Given the description of an element on the screen output the (x, y) to click on. 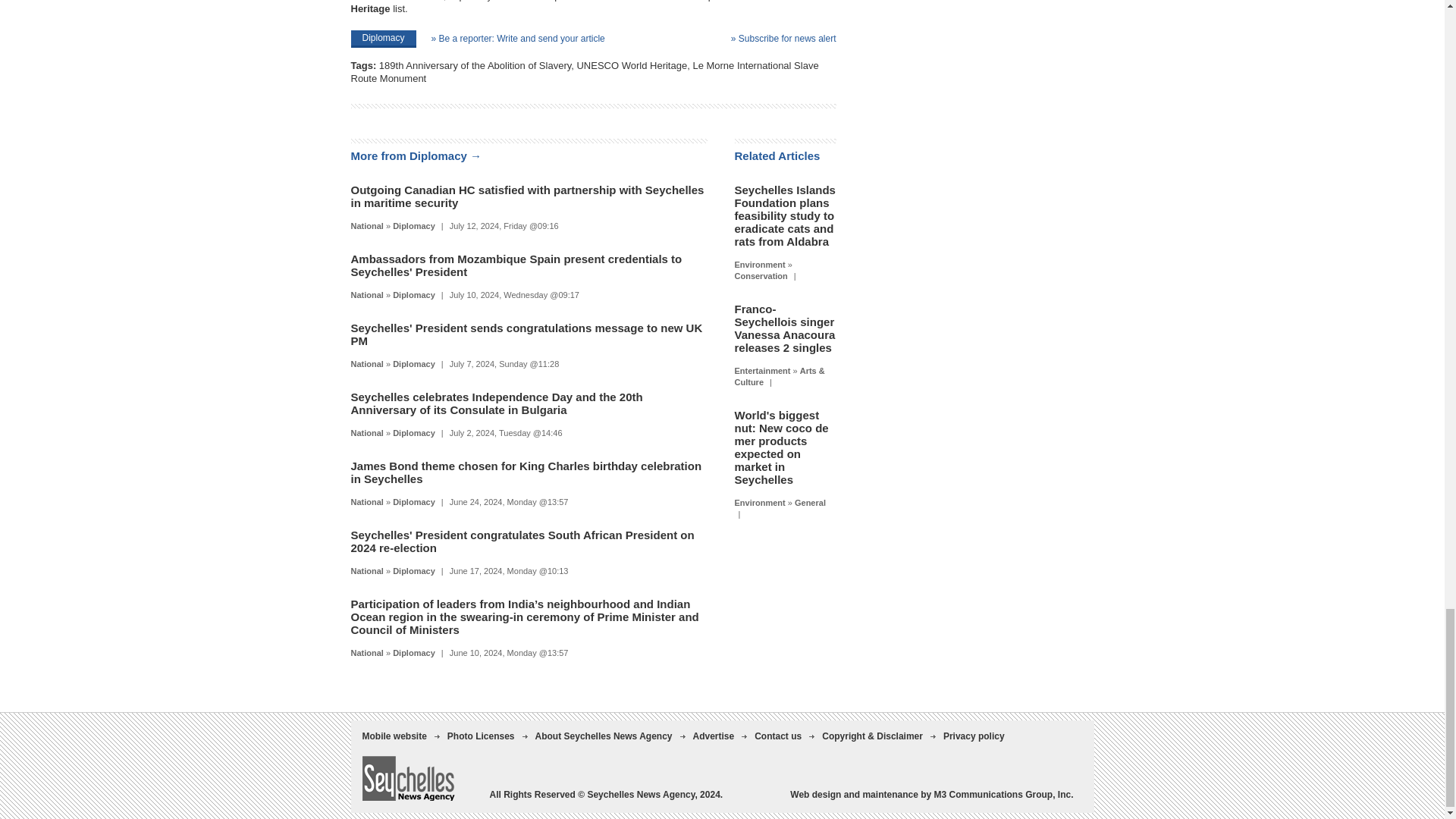
Diplomacy News (414, 294)
Diplomacy (414, 225)
, UNESCO World Heritage (628, 65)
National (366, 225)
Diplomacy News (414, 225)
, Le Morne International Slave Route Monument (584, 71)
Subscribe for news alert (782, 38)
189th Anniversary of the Abolition of Slavery (474, 65)
Diplomacy (382, 38)
